Given the description of an element on the screen output the (x, y) to click on. 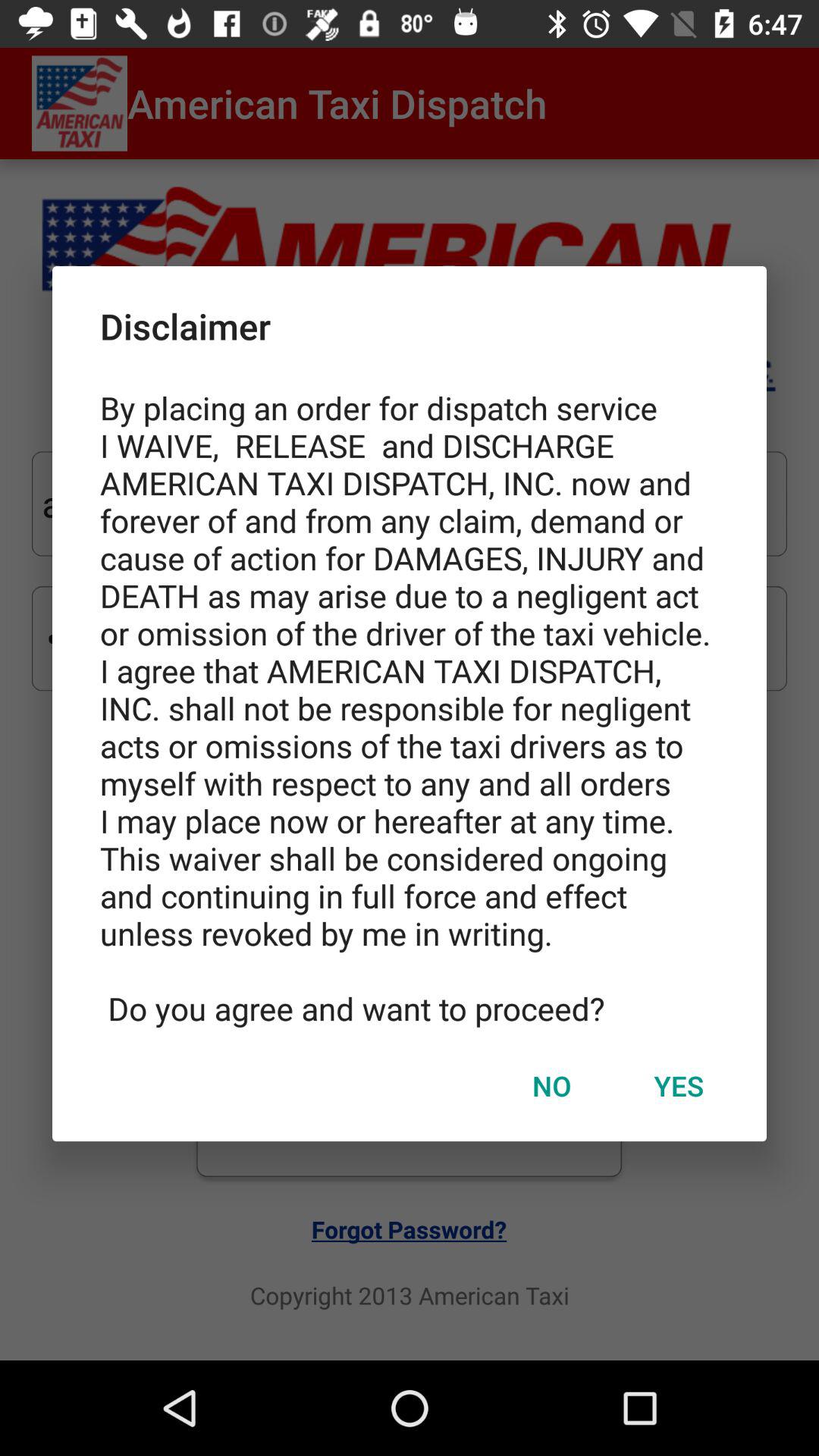
press the item next to the yes icon (551, 1085)
